Given the description of an element on the screen output the (x, y) to click on. 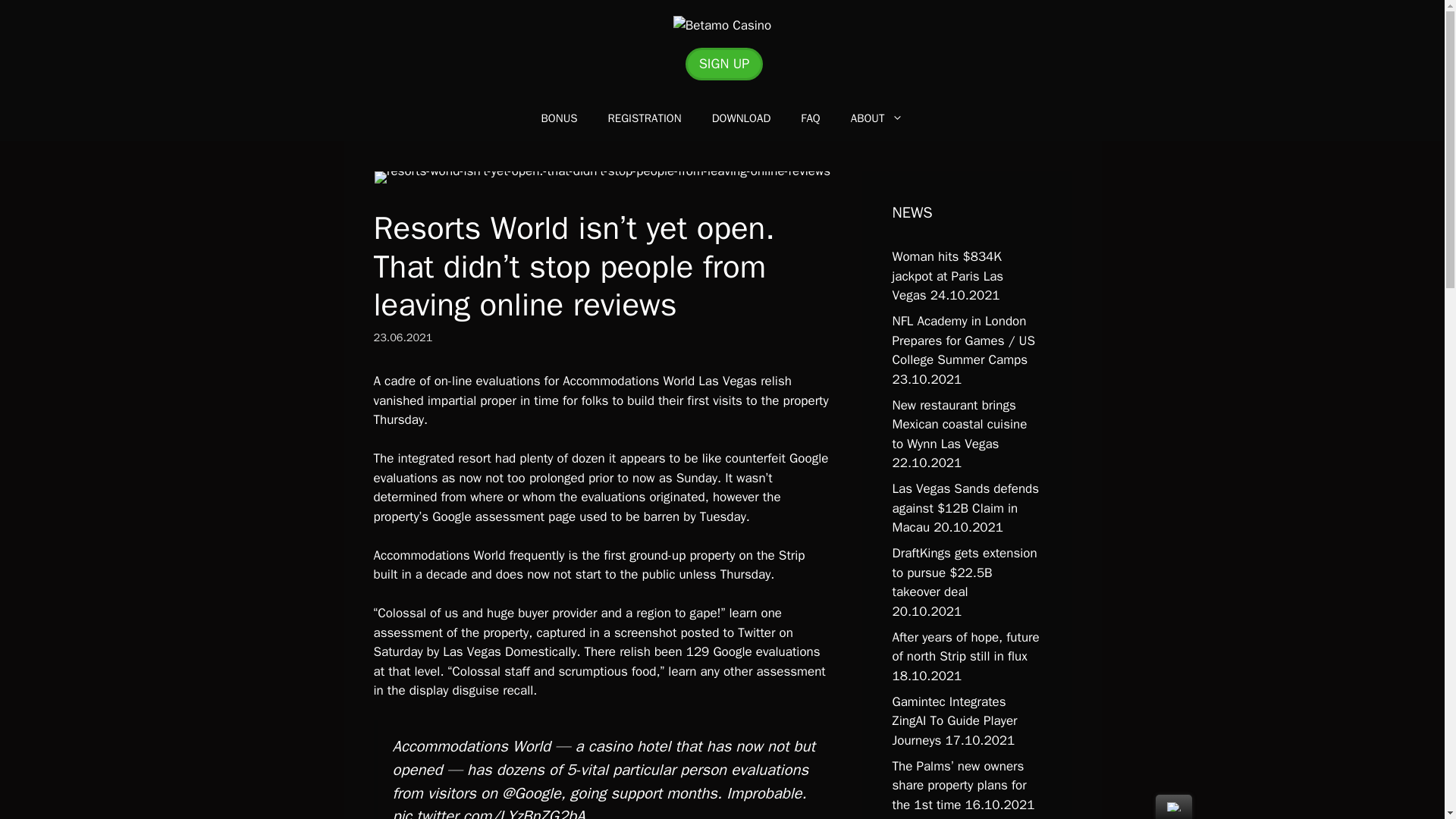
ABOUT (876, 117)
DOWNLOAD (741, 117)
BONUS (558, 117)
FAQ (810, 117)
Betamo Casino (721, 25)
Betamo Casino (721, 24)
SIGN UP (723, 63)
English (1173, 806)
Gamintec Integrates ZingAI To Guide Player Journeys (953, 720)
REGISTRATION (644, 117)
After years of hope, future of north Strip still in flux (965, 647)
